Given the description of an element on the screen output the (x, y) to click on. 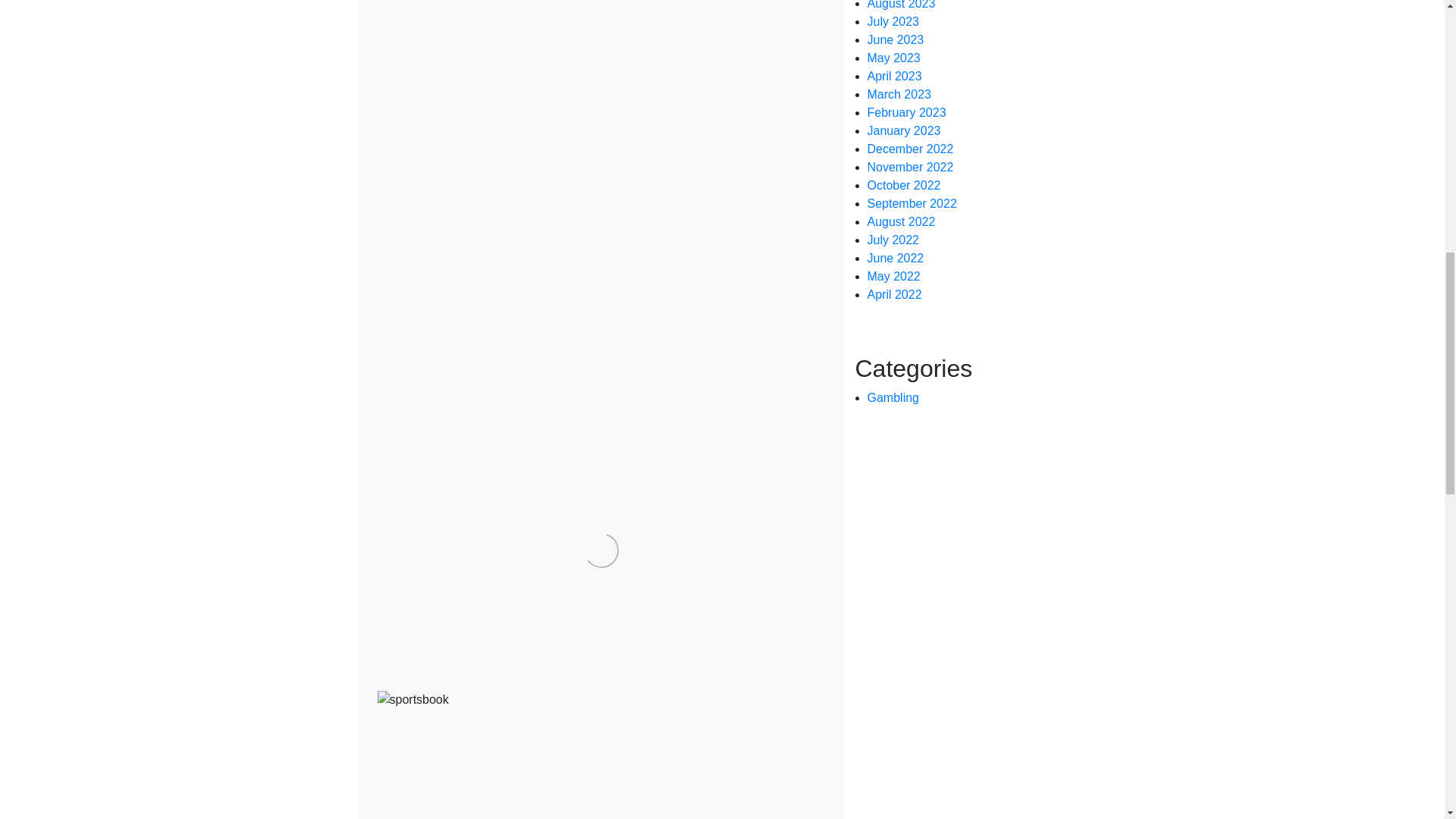
togel hongkong 6d (642, 509)
togel hongkong hari ini (759, 509)
togel hk (763, 491)
angka togel hongkong (471, 472)
togel singapore hongkong (531, 545)
togel hongkong malam (431, 527)
togel hongkong (437, 509)
togel hongkong pools (582, 536)
result togel hongkong (678, 491)
togel hongkong online (703, 527)
